Given the description of an element on the screen output the (x, y) to click on. 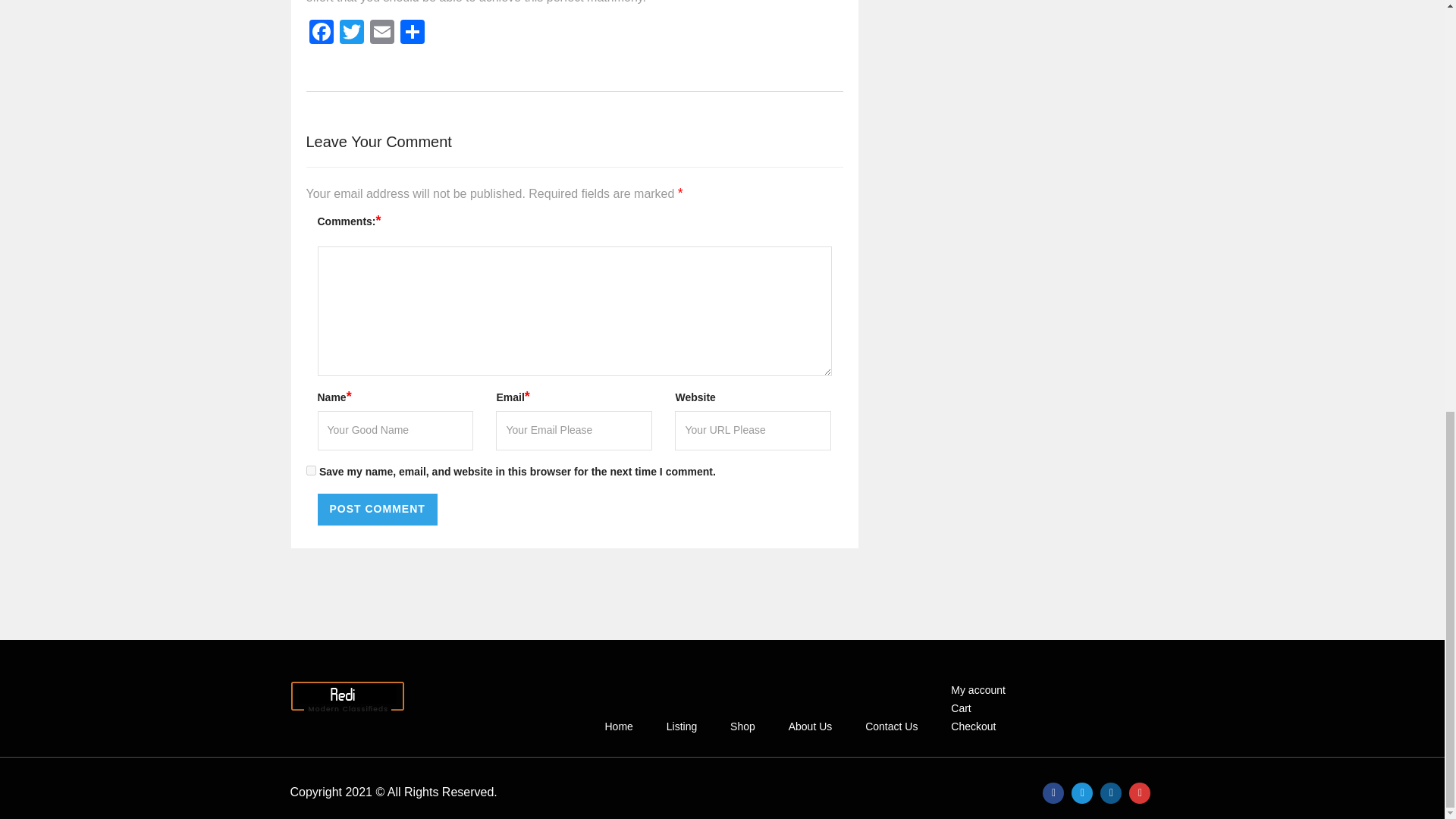
Twitter (351, 33)
Listing (681, 726)
Email (381, 33)
Twitter (351, 33)
Post Comment (376, 509)
Contact Us (890, 726)
Facebook (320, 33)
Post Comment (376, 509)
Home (617, 726)
Email (381, 33)
